Given the description of an element on the screen output the (x, y) to click on. 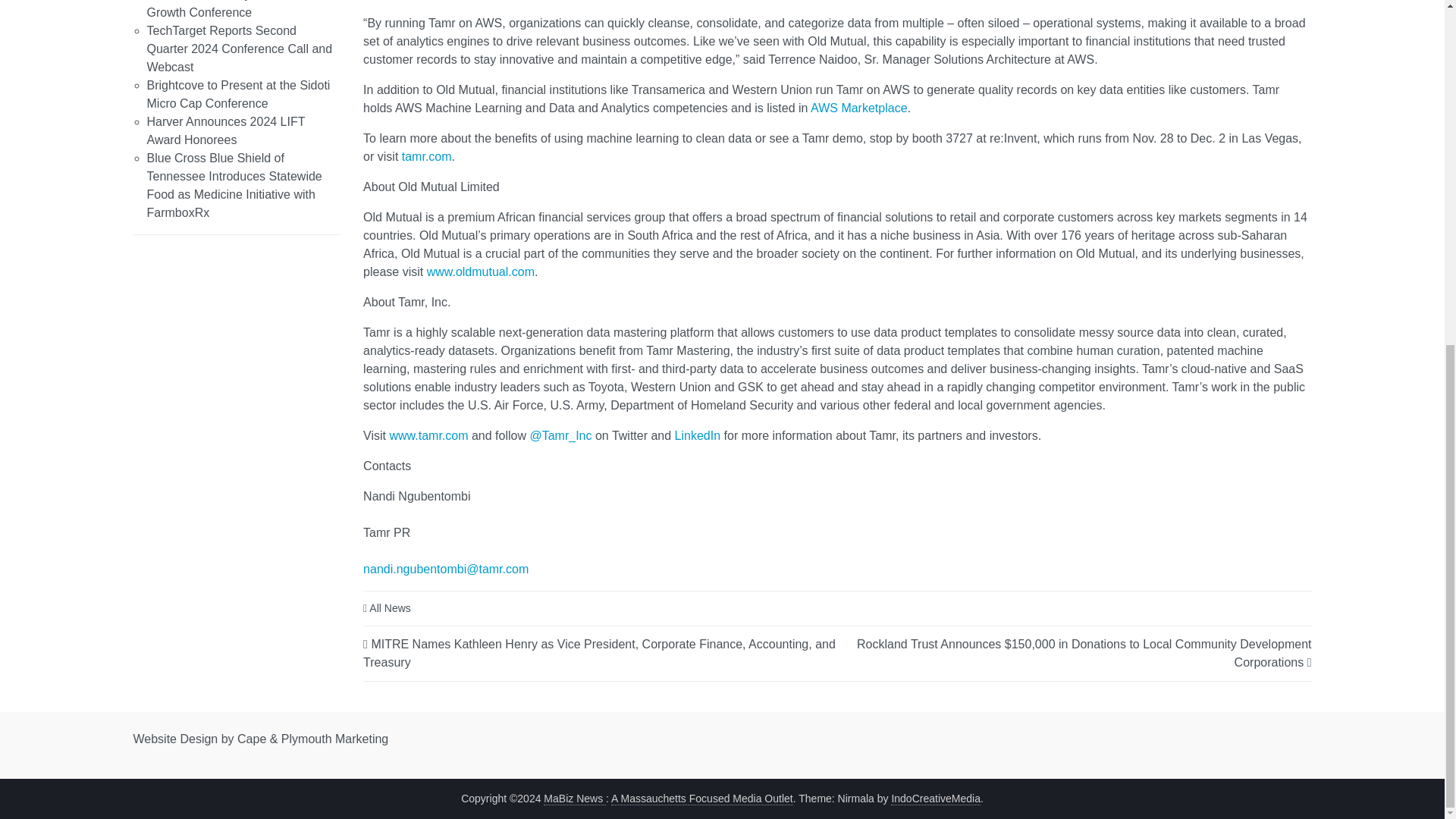
LinkedIn (697, 435)
www.oldmutual.com (480, 271)
Brightcove to Present at the Sidoti Micro Cap Conference (238, 93)
AWS Marketplace (858, 107)
Harver Announces 2024 LIFT Award Honorees (226, 130)
tamr.com (426, 155)
A Massauchetts Focused Media Outlet (702, 797)
MaBiz News (574, 797)
